Given the description of an element on the screen output the (x, y) to click on. 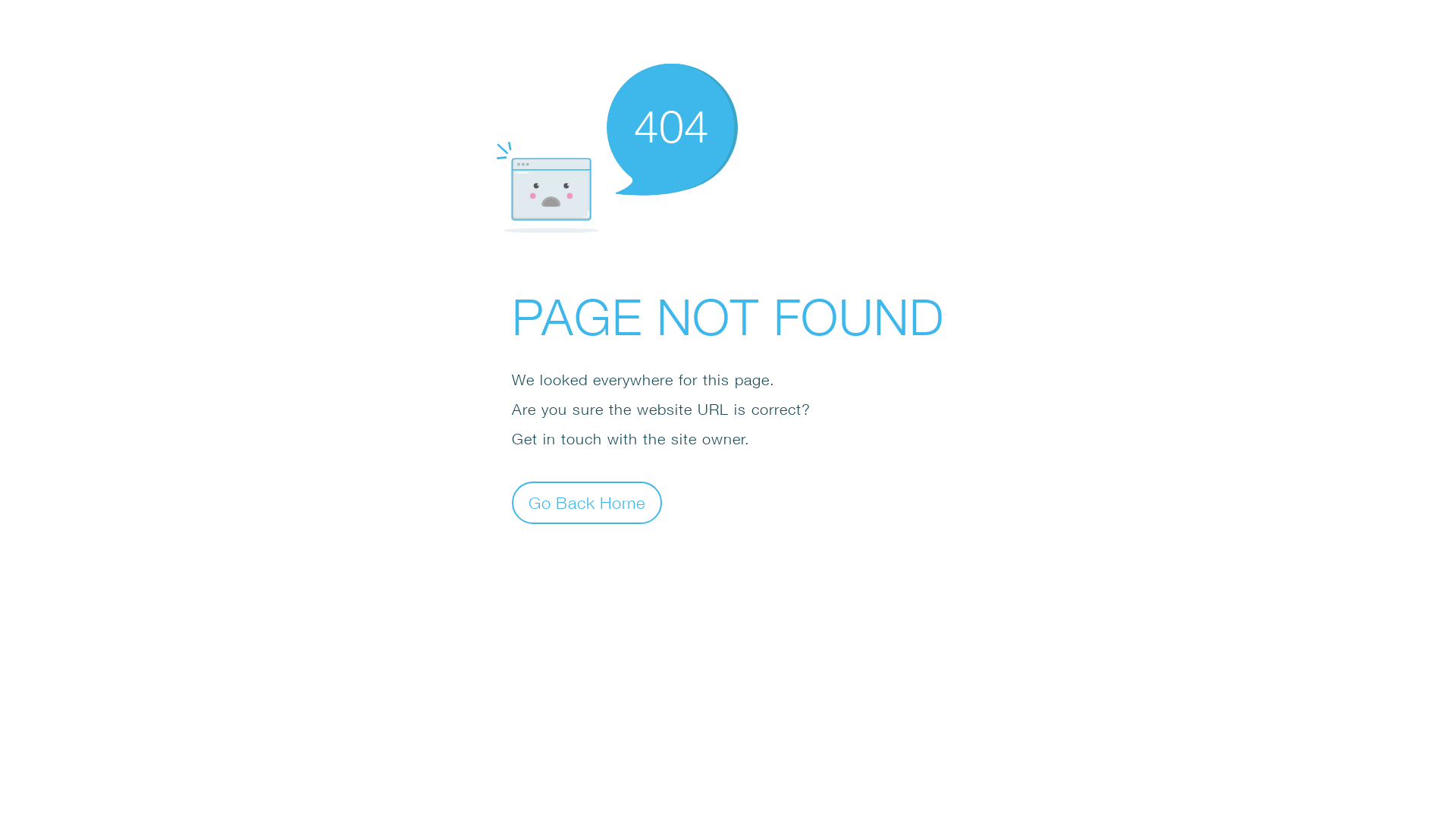
Go Back Home Element type: text (586, 502)
